Given the description of an element on the screen output the (x, y) to click on. 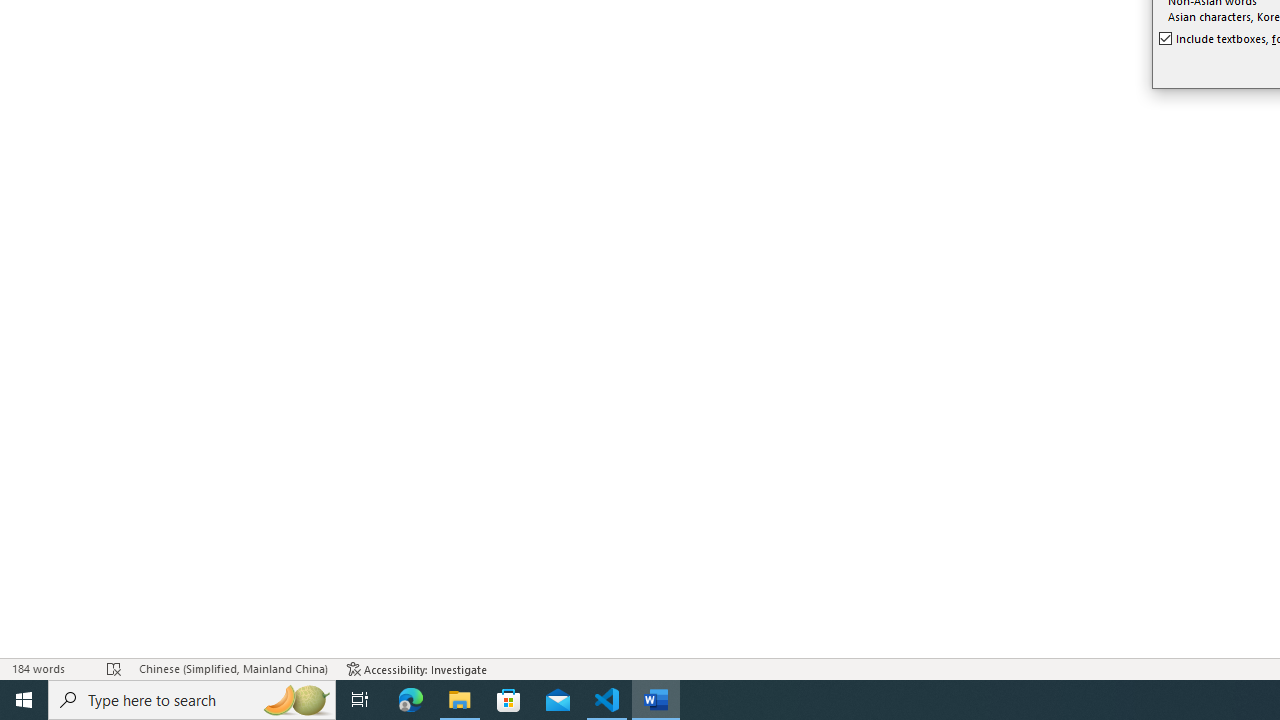
Start (24, 699)
Accessibility Checker Accessibility: Investigate (417, 668)
Word - 1 running window (656, 699)
Microsoft Store (509, 699)
Language Chinese (Simplified, Mainland China) (232, 668)
Search highlights icon opens search home window (295, 699)
Microsoft Edge (411, 699)
File Explorer - 1 running window (460, 699)
Task View (359, 699)
Type here to search (191, 699)
Visual Studio Code - 1 running window (607, 699)
Word Count 184 words (49, 668)
Spelling and Grammar Check Errors (114, 668)
